Given the description of an element on the screen output the (x, y) to click on. 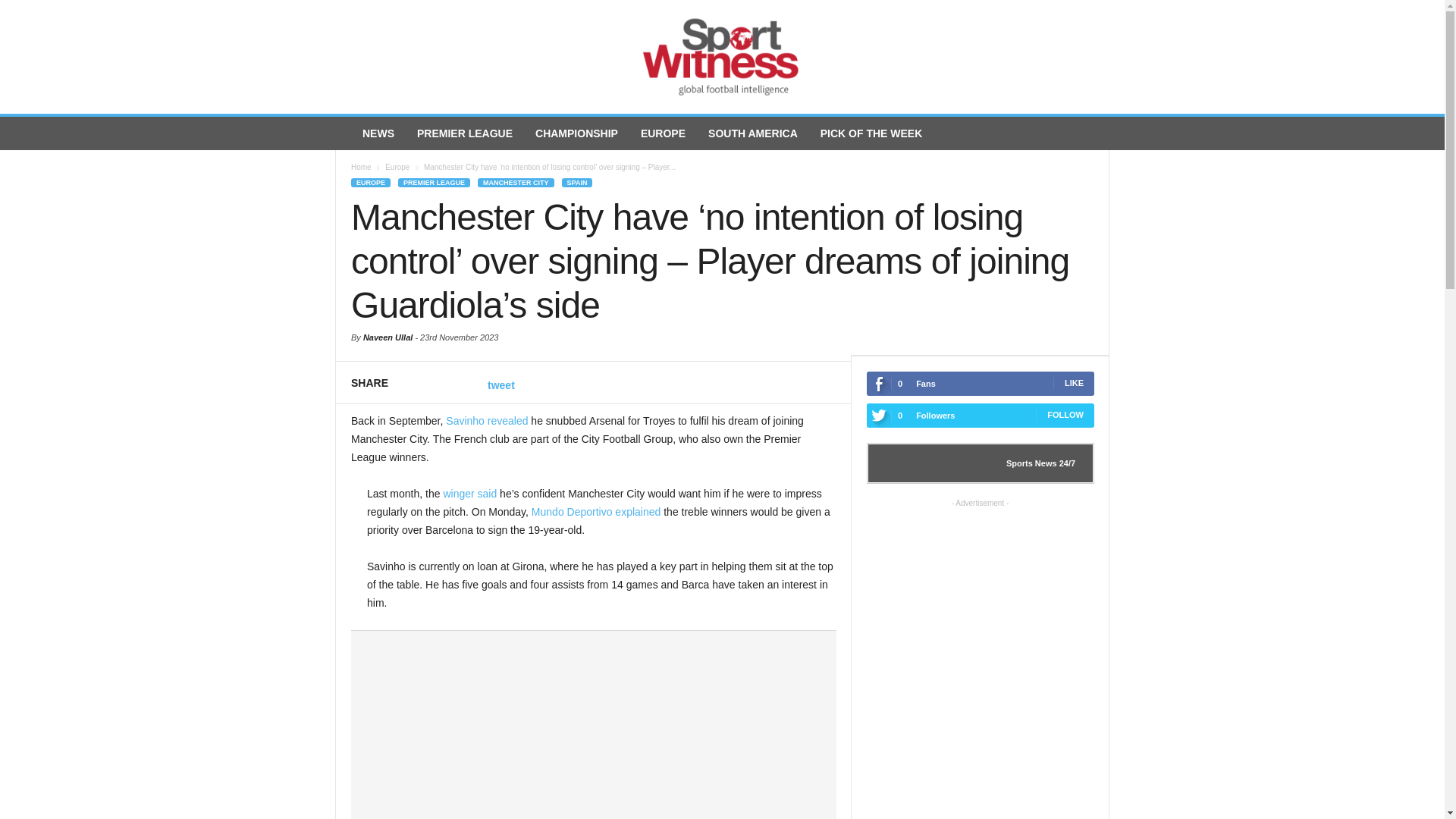
Sportwitness (722, 56)
